Given the description of an element on the screen output the (x, y) to click on. 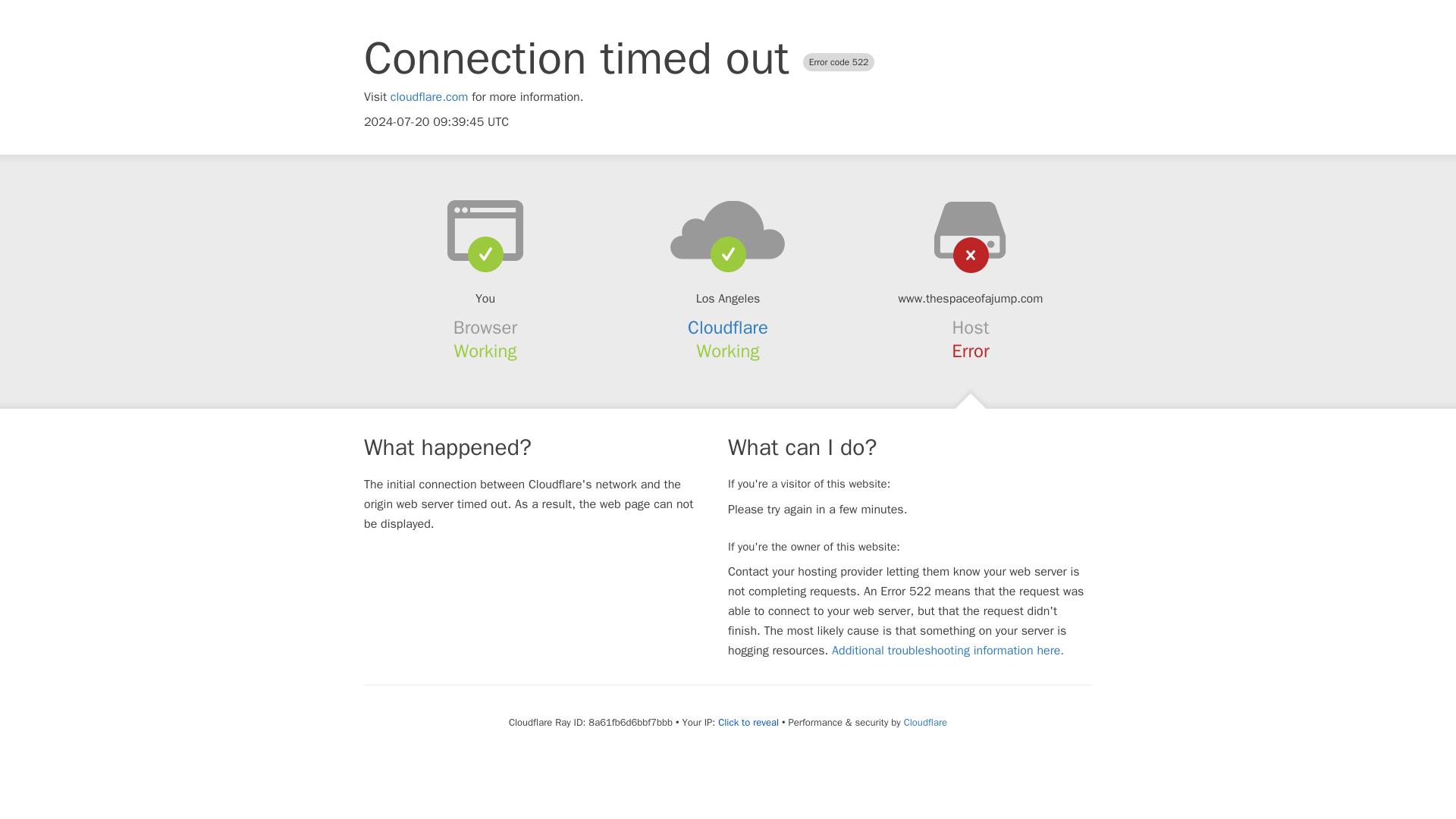
cloudflare.com (429, 96)
Additional troubleshooting information here. (947, 650)
Cloudflare (925, 721)
Cloudflare (727, 327)
Click to reveal (747, 722)
